Given the description of an element on the screen output the (x, y) to click on. 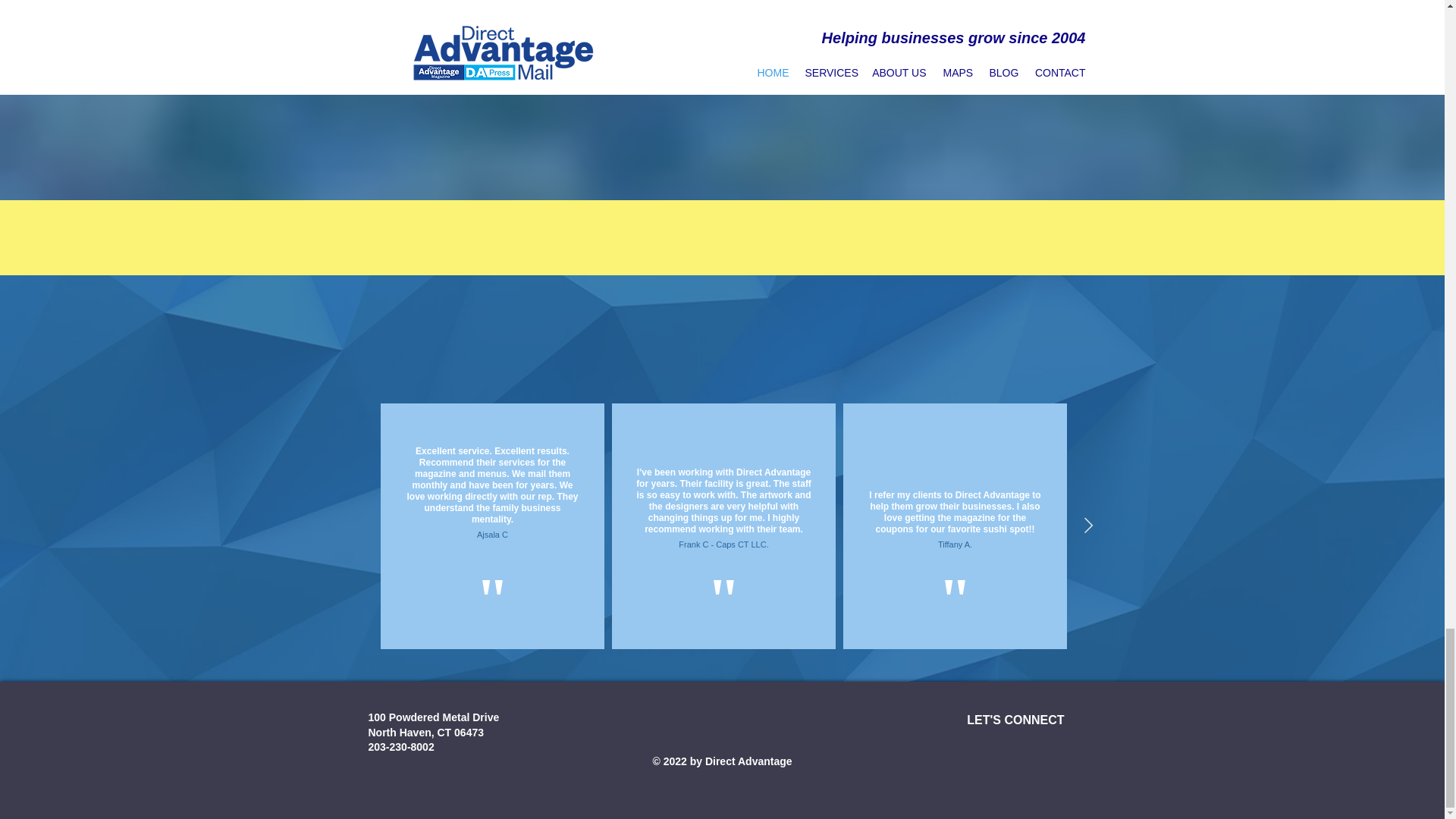
" (492, 578)
" (954, 578)
" (722, 578)
" (1185, 578)
